Given the description of an element on the screen output the (x, y) to click on. 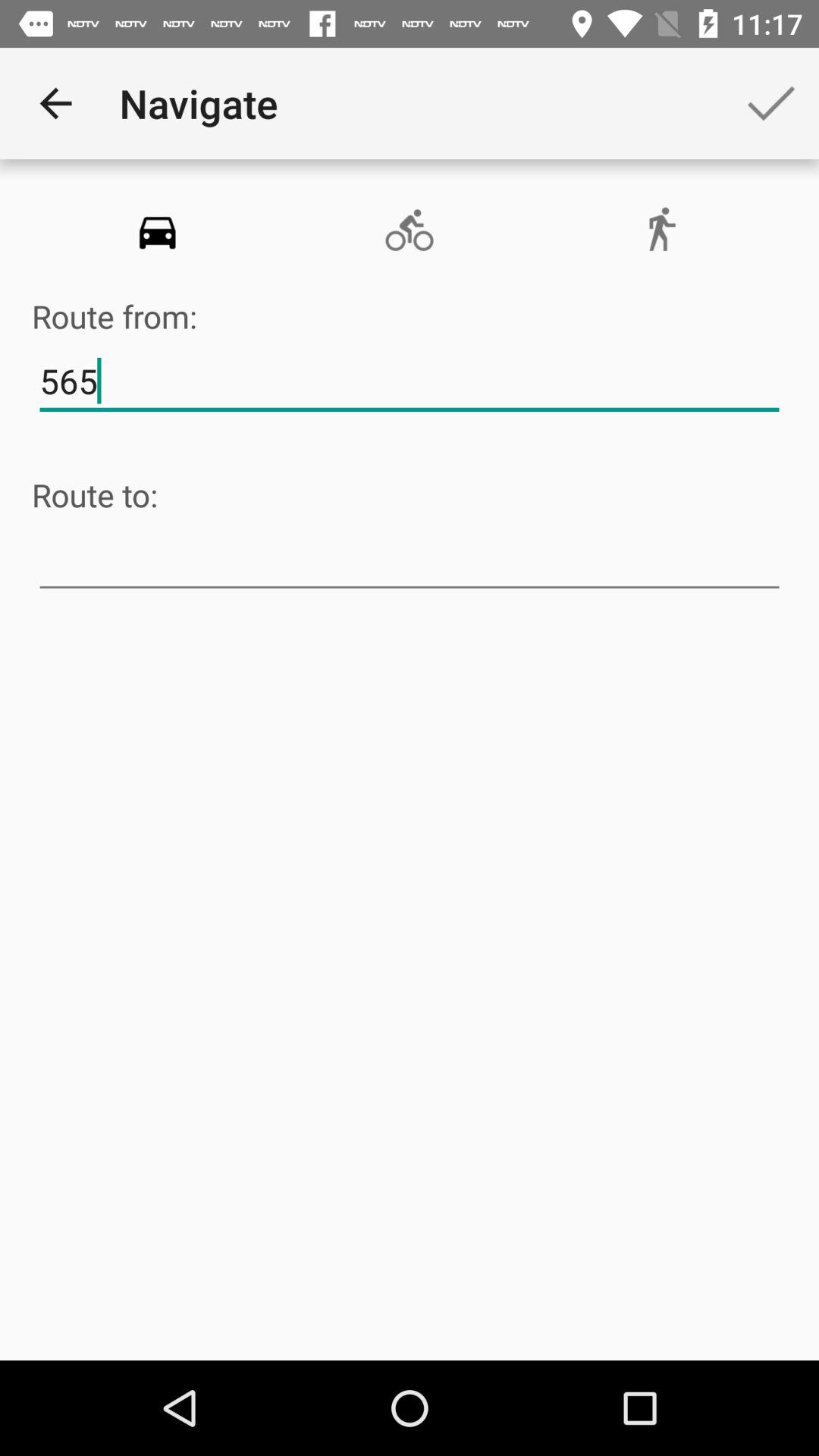
turn on item below navigate icon (409, 230)
